Given the description of an element on the screen output the (x, y) to click on. 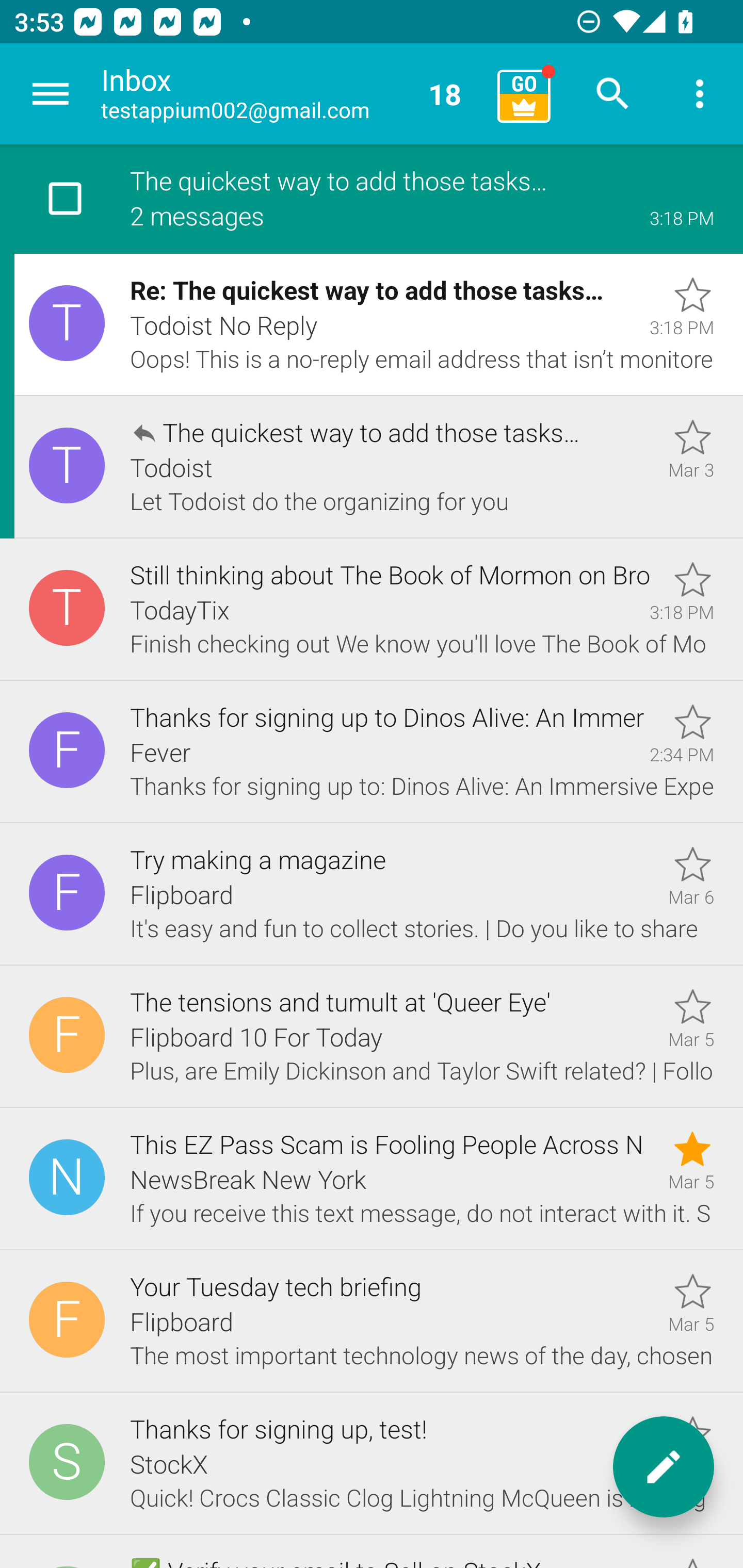
Navigate up (50, 93)
Inbox testappium002@gmail.com 18 (291, 93)
Search (612, 93)
More options (699, 93)
New message (663, 1466)
